Given the description of an element on the screen output the (x, y) to click on. 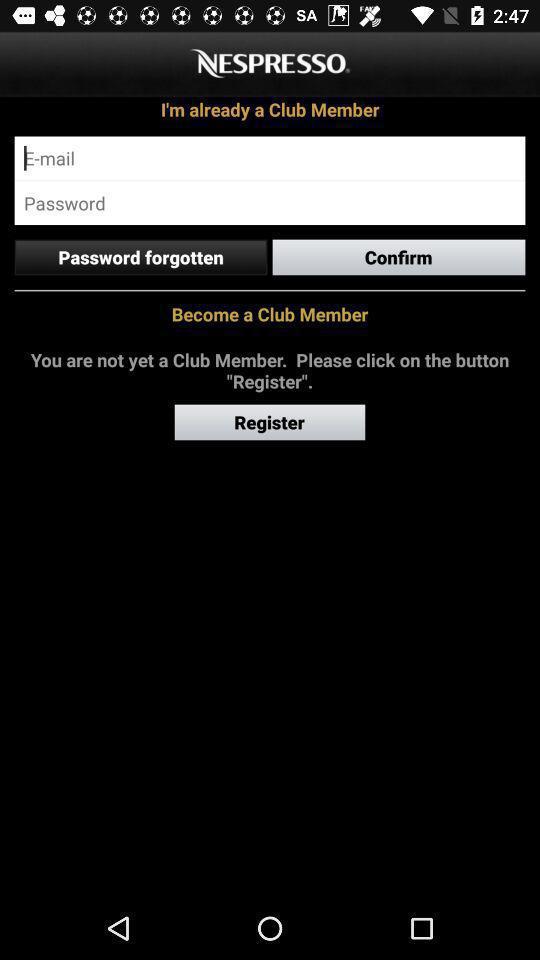
select item next to the password forgotten (398, 257)
